Given the description of an element on the screen output the (x, y) to click on. 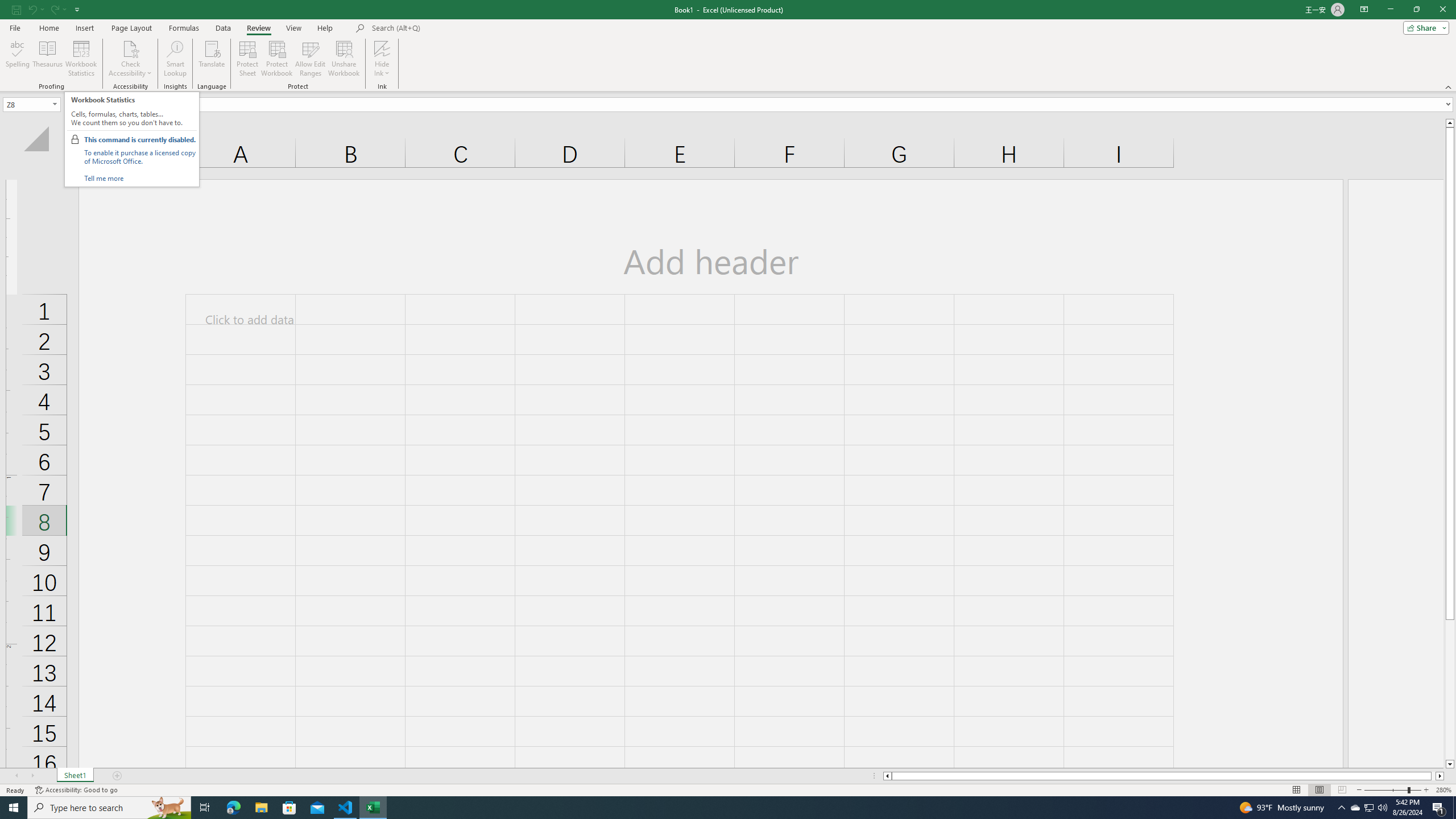
Unshare Workbook (344, 58)
Protect Workbook... (277, 58)
